Given the description of an element on the screen output the (x, y) to click on. 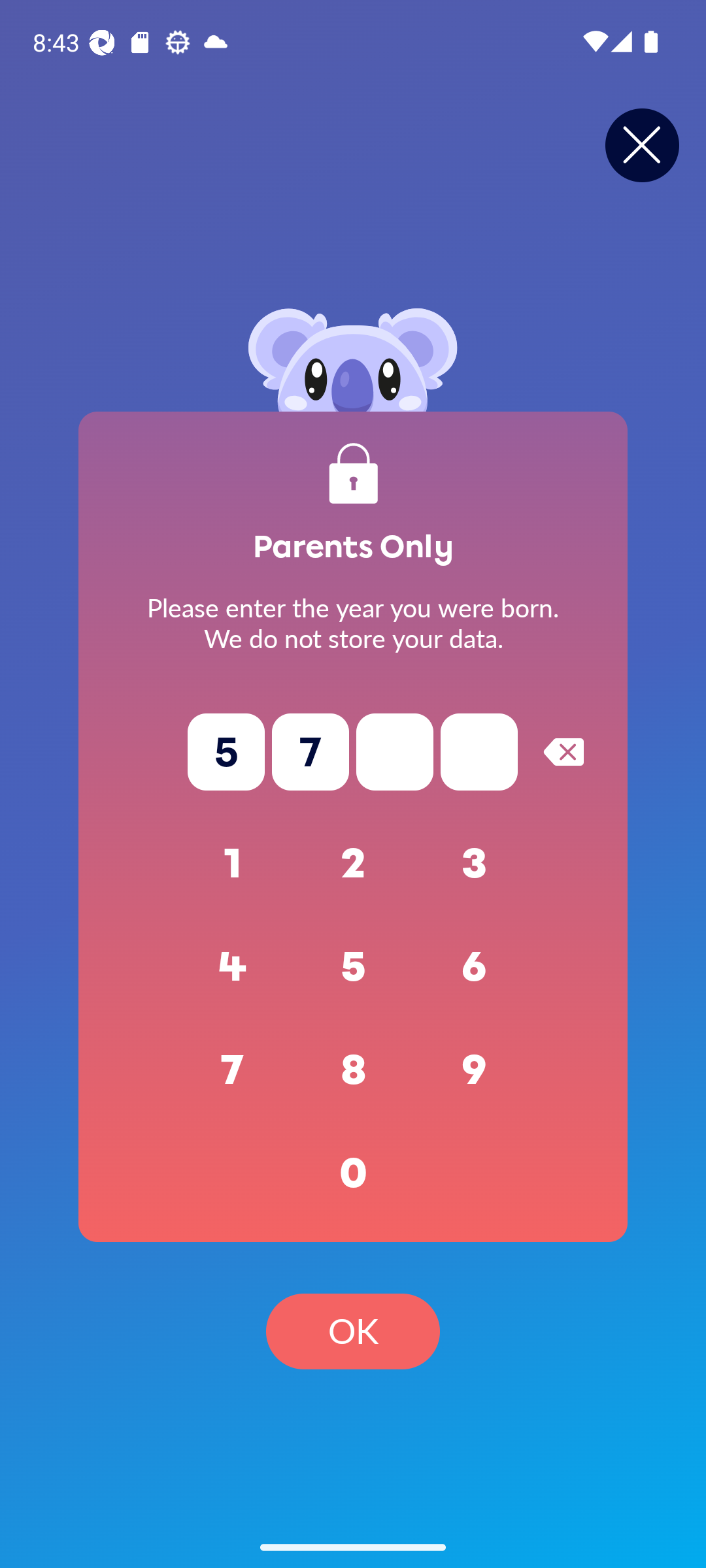
Delete (563, 751)
1 (232, 863)
2 (353, 863)
3 (474, 863)
4 (232, 966)
5 (353, 966)
6 (474, 966)
7 (232, 1069)
8 (353, 1069)
9 (474, 1069)
0 (353, 1173)
OK (352, 1331)
